Given the description of an element on the screen output the (x, y) to click on. 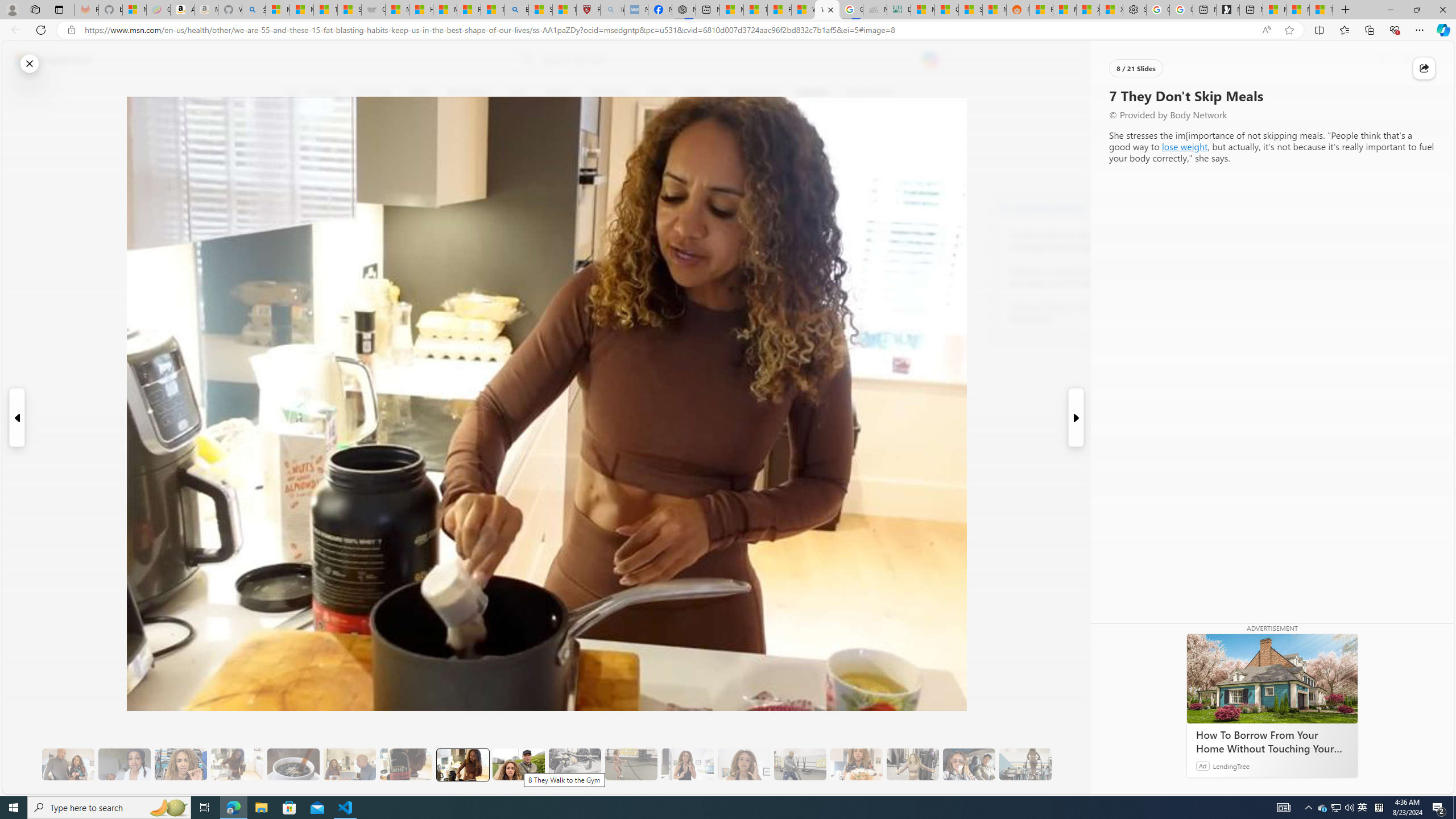
See more (1149, 785)
World News (468, 92)
8 They Walk to the Gym (518, 764)
10 Then, They Do HIIT Cardio (631, 764)
lose weight (1184, 146)
Combat Siege (373, 9)
15 They Also Indulge in a Low-Calorie Sweet Treat (912, 764)
11 They Eat More Protein for Breakfast (687, 764)
5 She Eats Less Than Her Husband (349, 764)
9 They Do Bench Exercises (574, 764)
